Given the description of an element on the screen output the (x, y) to click on. 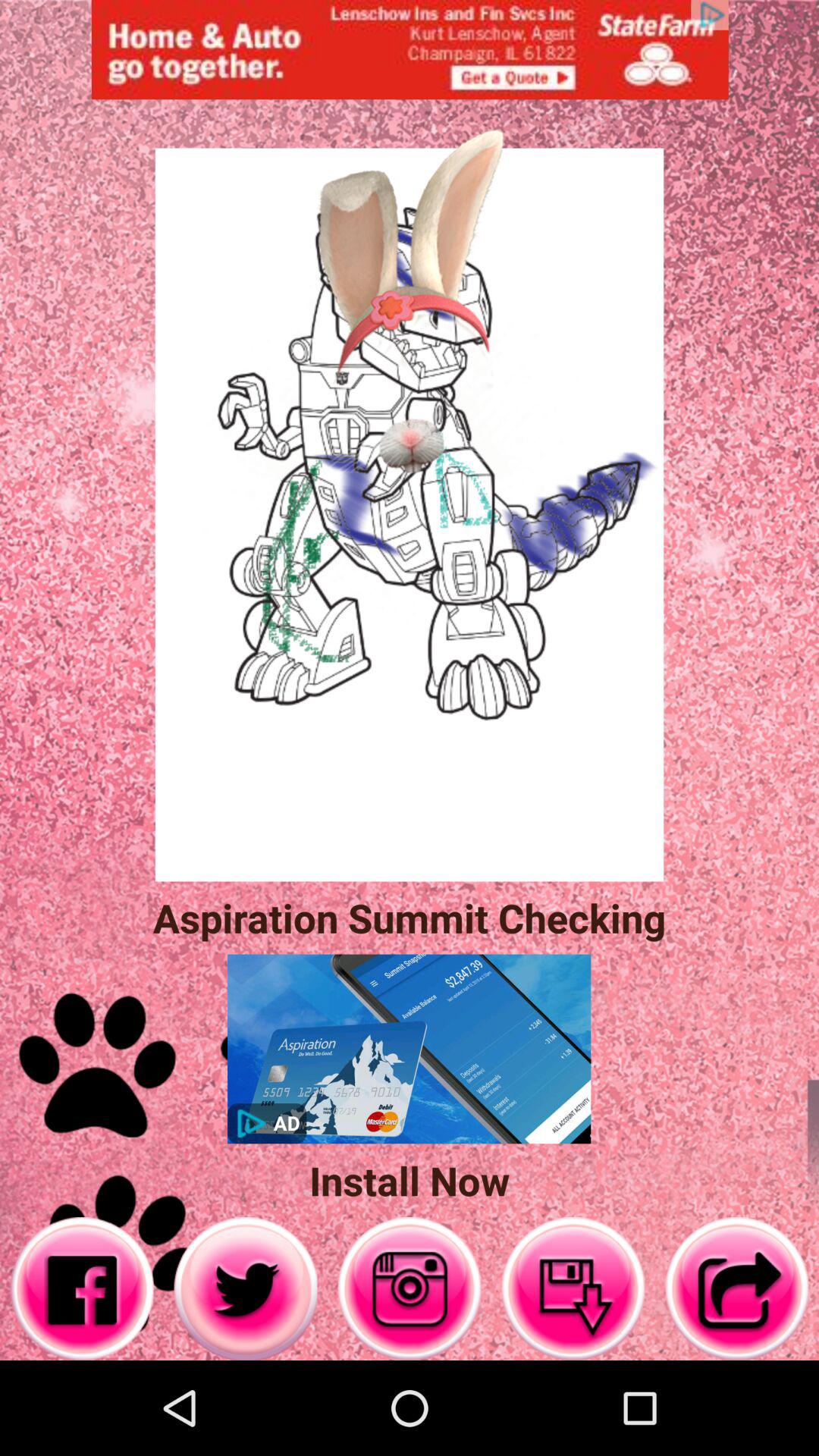
connect facebook (81, 1288)
